Given the description of an element on the screen output the (x, y) to click on. 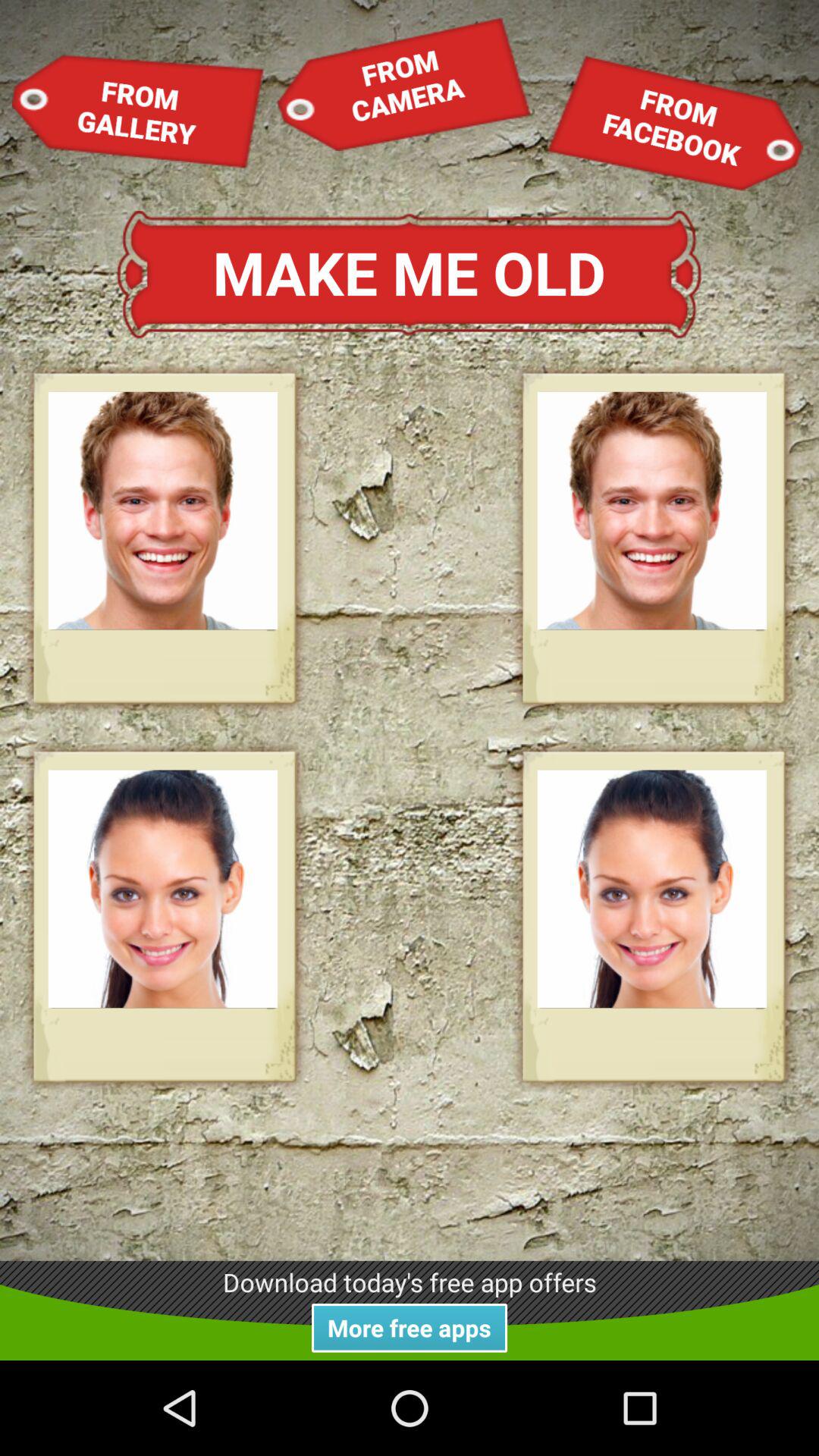
flip until the from
facebook item (675, 123)
